Given the description of an element on the screen output the (x, y) to click on. 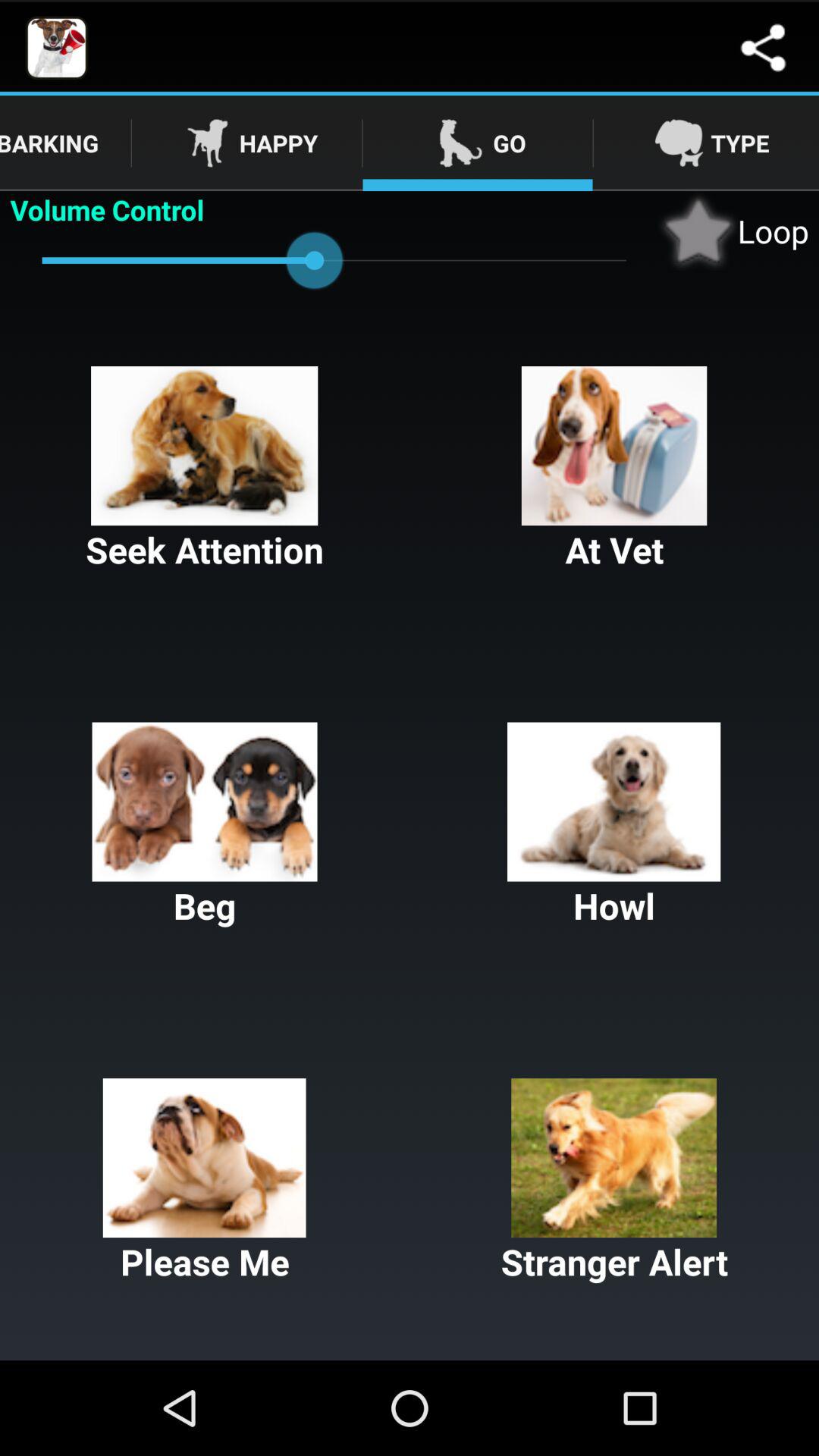
choose the button next to the beg item (614, 825)
